Given the description of an element on the screen output the (x, y) to click on. 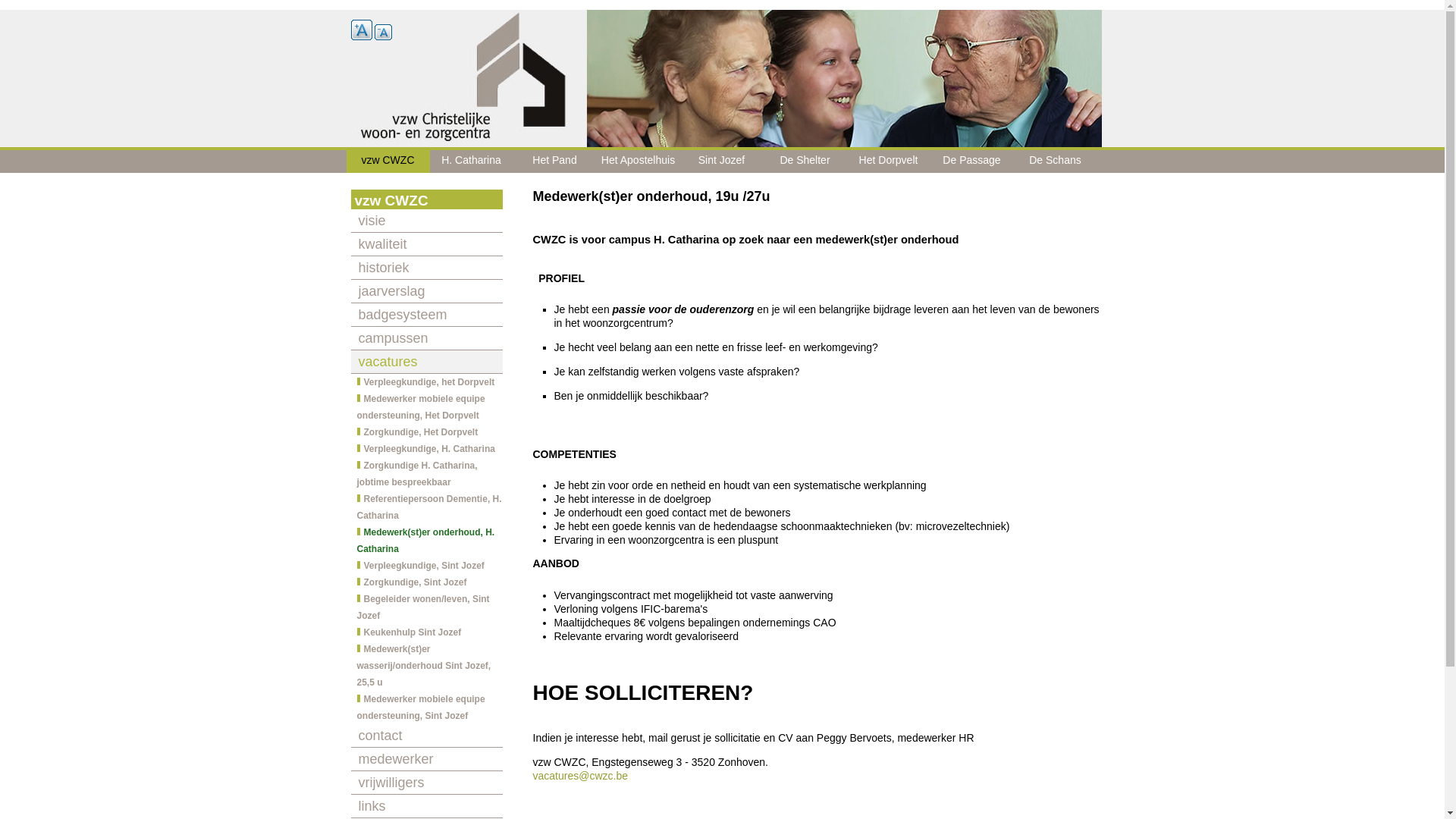
historiek Element type: text (426, 267)
Medewerker mobiele equipe ondersteuning, Het Dorpvelt Element type: text (426, 406)
Medewerker mobiele equipe ondersteuning, Sint Jozef Element type: text (426, 707)
Zorgkundige, Het Dorpvelt Element type: text (426, 431)
Verpleegkundige, H. Catharina Element type: text (426, 448)
De Shelter Element type: text (804, 159)
Zoeken Element type: text (26, 7)
Zorgkundige, Sint Jozef Element type: text (426, 582)
kwaliteit Element type: text (426, 244)
Medewerk(st)er wasserij/onderhoud Sint Jozef, 25,5 u Element type: text (426, 665)
De Schans Element type: text (1054, 159)
vrijwilligers Element type: text (426, 782)
Het Apostelhuis Element type: text (637, 159)
Verpleegkundige, het Dorpvelt Element type: text (426, 381)
H. Catharina Element type: text (470, 159)
vzw CWZC Element type: text (387, 159)
visie Element type: text (426, 220)
medewerker Element type: text (426, 759)
Keukenhulp Sint Jozef Element type: text (426, 632)
contact Element type: text (426, 735)
badgesysteem Element type: text (426, 314)
A Element type: text (360, 29)
Het Dorpvelt Element type: text (887, 159)
vacatures@cwzc.be Element type: text (579, 775)
Zorgkundige H. Catharina, jobtime bespreekbaar Element type: text (426, 473)
Het Pand Element type: text (554, 159)
Begeleider wonen/leven, Sint Jozef Element type: text (426, 607)
campussen Element type: text (426, 338)
Referentiepersoon Dementie, H. Catharina Element type: text (426, 507)
Verpleegkundige, Sint Jozef Element type: text (426, 565)
vacatures Element type: text (426, 361)
Medewerk(st)er onderhoud, H. Catharina Element type: text (426, 540)
jaarverslag Element type: text (426, 291)
De Passage Element type: text (971, 159)
links Element type: text (426, 806)
Sint Jozef Element type: text (720, 159)
A Element type: text (383, 32)
